Given the description of an element on the screen output the (x, y) to click on. 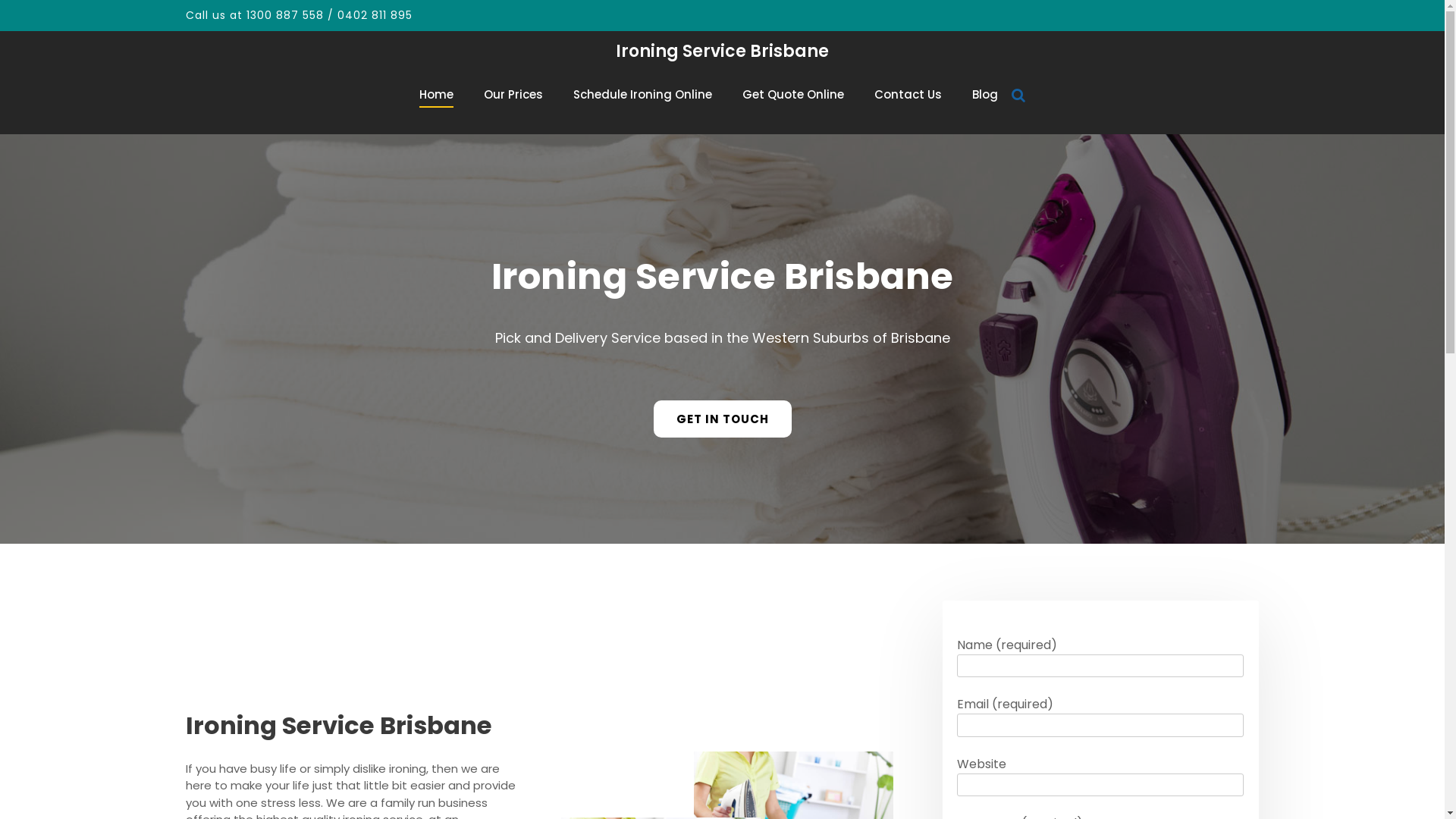
Ironing Service Brisbane Element type: text (722, 276)
Blog Element type: text (984, 94)
GET IN TOUCH Element type: text (722, 418)
Ironing Service Brisbane Element type: text (721, 50)
Schedule Ironing Online Element type: text (642, 94)
Home Element type: text (436, 94)
Contact Us Element type: text (907, 94)
Our Prices Element type: text (512, 94)
Get Quote Online Element type: text (793, 94)
